Given the description of an element on the screen output the (x, y) to click on. 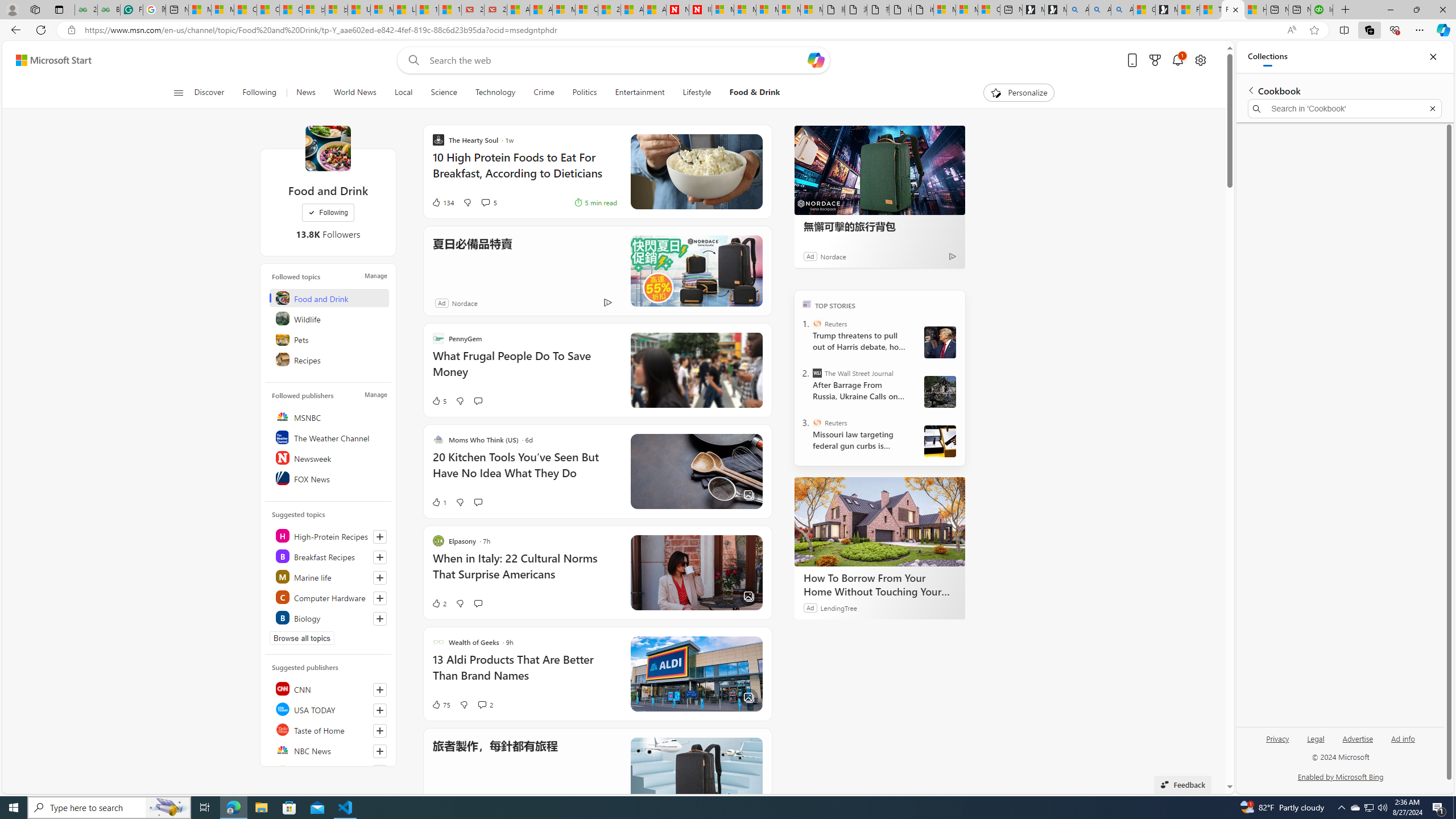
01:07PreviewPennyGemWhat Frugal People Do To Save Money5 (596, 369)
Local (403, 92)
Entertainment (639, 92)
Start the conversation (477, 603)
1 Like (438, 502)
App bar (728, 29)
Enter your search term (617, 59)
13 Aldi Products That Are Better Than Brand Names (524, 673)
Reuters (816, 422)
Legal (1315, 742)
Ad info (1402, 742)
Close (1432, 56)
